Given the description of an element on the screen output the (x, y) to click on. 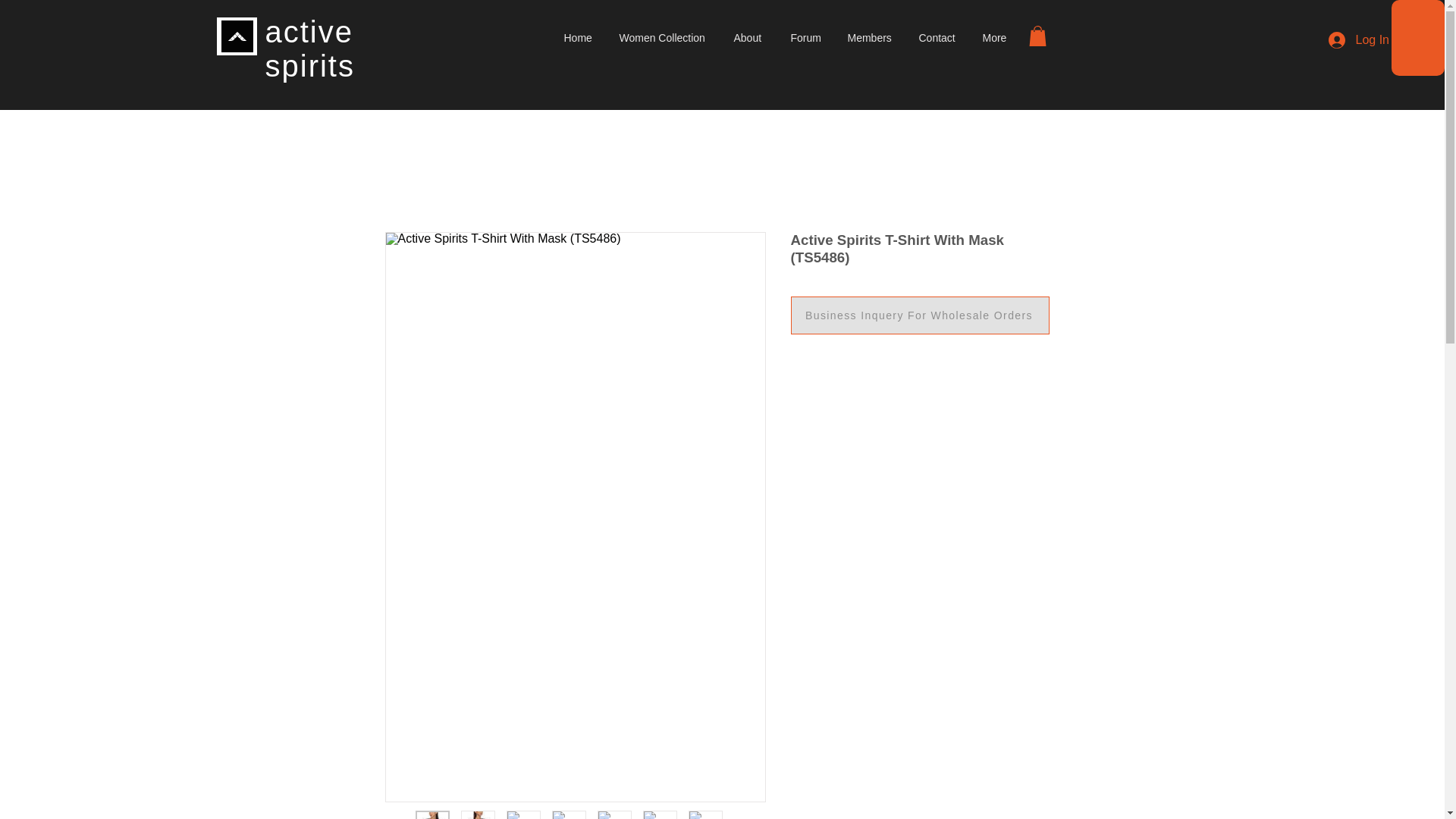
About (750, 37)
Home (579, 37)
Business Inquery For Wholesale Orders (919, 315)
Add to Wishlist (924, 322)
Women Collection (665, 37)
Log In (1358, 40)
Forum (806, 37)
Contact (939, 37)
active spirits (309, 48)
Members (871, 37)
